Given the description of an element on the screen output the (x, y) to click on. 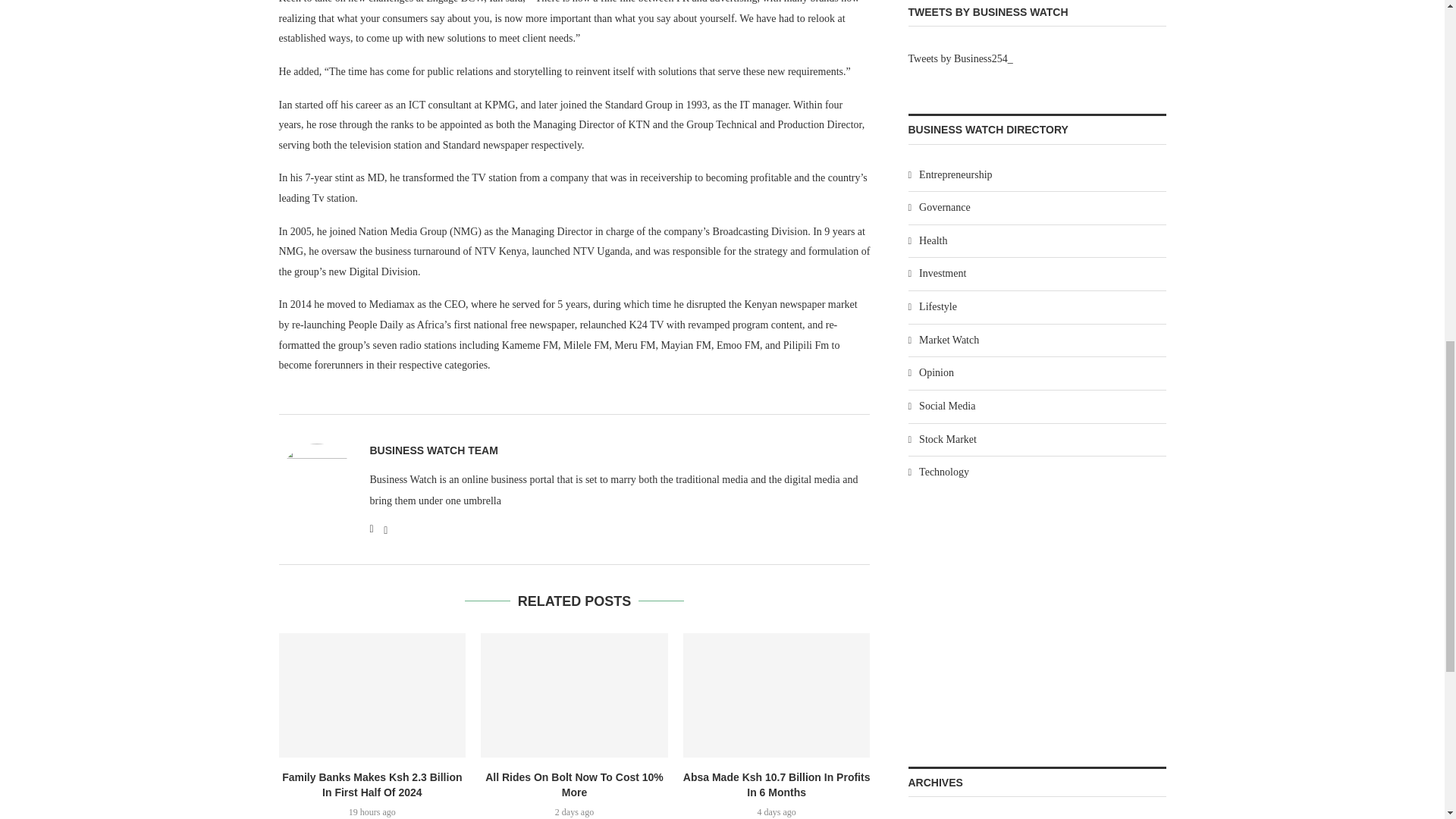
Family Banks Makes Ksh 2.3 Billion In First Half Of 2024 (372, 695)
Absa Made Ksh 10.7 Billion In Profits In 6 Months (776, 695)
Author Business Watch Team (433, 450)
